Given the description of an element on the screen output the (x, y) to click on. 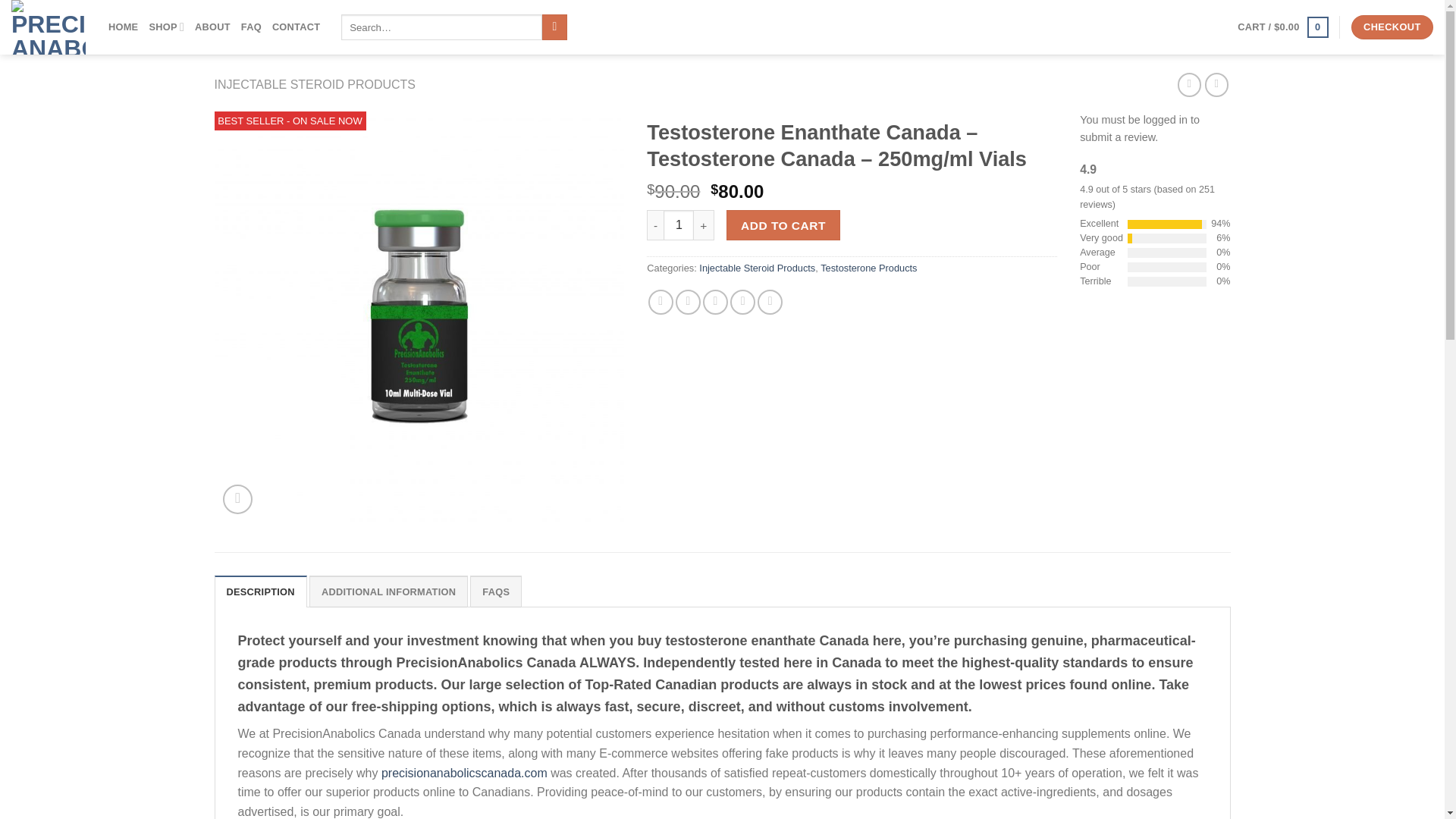
Cart (1282, 26)
Share on LinkedIn (770, 301)
1 (678, 224)
Zoom (236, 499)
CONTACT (296, 26)
Share on Twitter (687, 301)
CHECKOUT (1391, 27)
HOME (122, 26)
Email to a Friend (715, 301)
Testosterone Products (869, 267)
SHOP (166, 26)
INJECTABLE STEROID PRODUCTS (314, 83)
ABOUT (212, 26)
Share on Facebook (659, 301)
Search (554, 27)
